Given the description of an element on the screen output the (x, y) to click on. 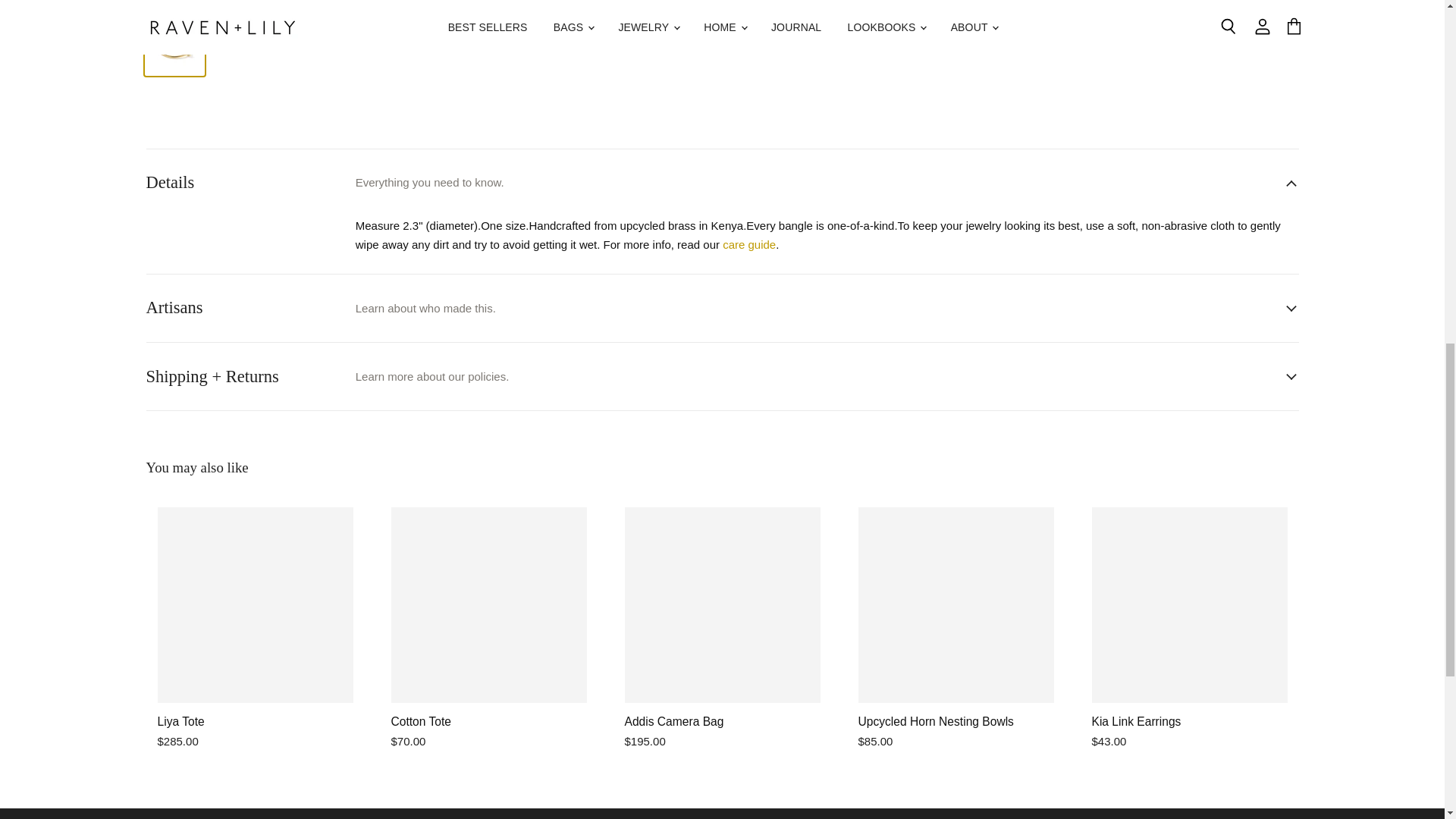
care guide (749, 244)
